Given the description of an element on the screen output the (x, y) to click on. 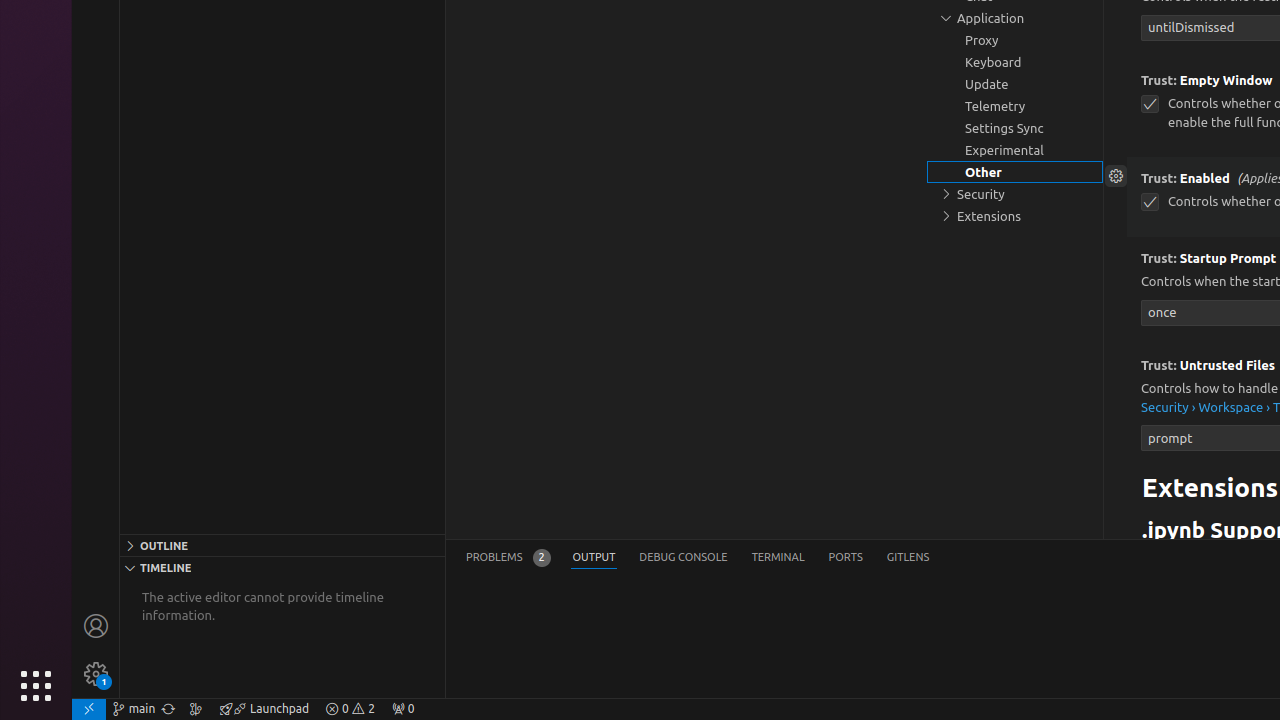
OSWorld (Git) - main, Checkout Branch/Tag... Element type: push-button (134, 709)
OSWorld (Git) - Synchronize Changes Element type: push-button (168, 709)
Settings Sync, group Element type: tree-item (1015, 128)
Output (Ctrl+K Ctrl+H) Element type: page-tab (594, 557)
No Ports Forwarded Element type: push-button (403, 709)
